Given the description of an element on the screen output the (x, y) to click on. 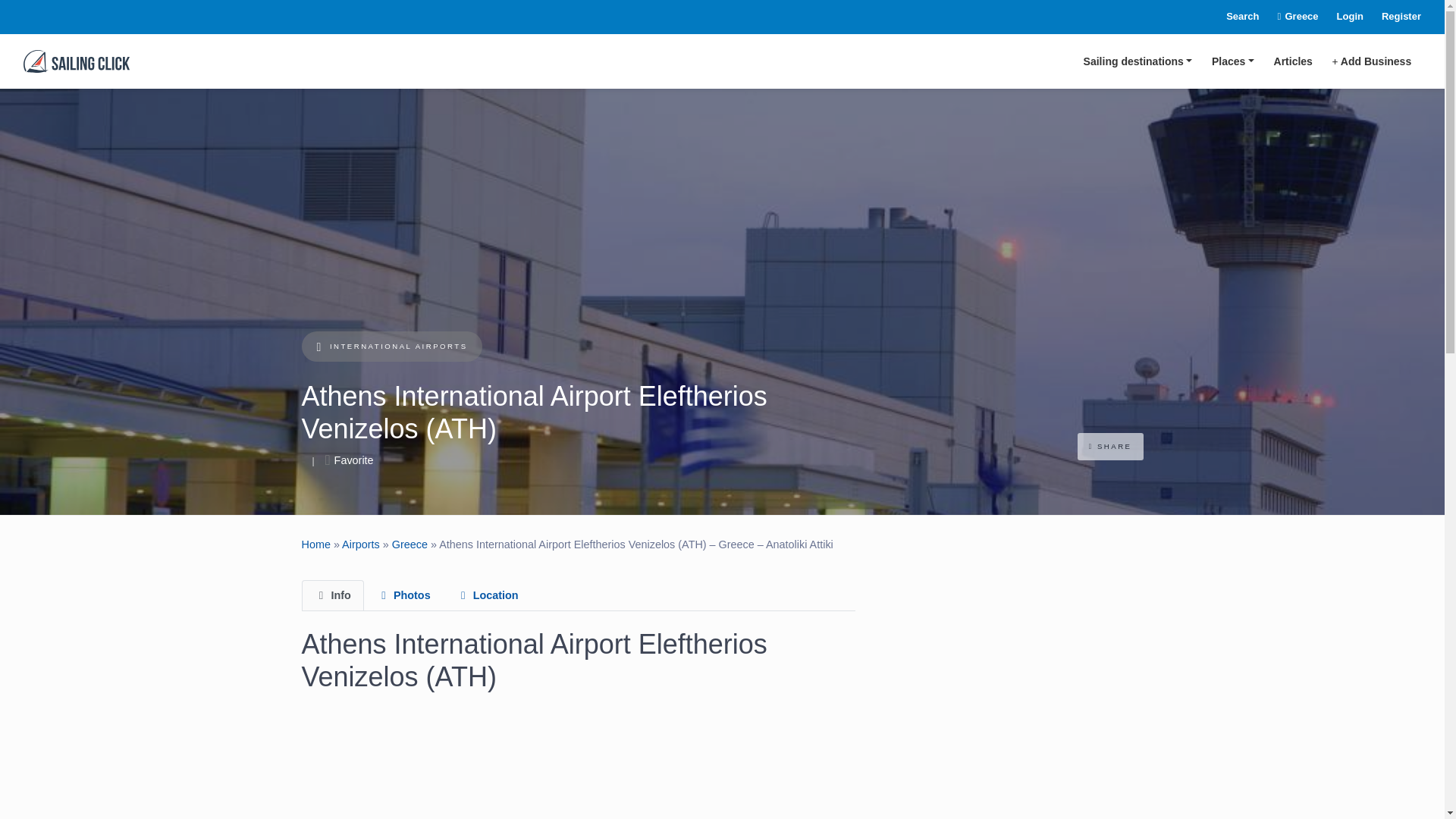
Register (1391, 17)
Search (1233, 17)
Location (487, 594)
Login (1340, 17)
 Greece (1289, 17)
Register (1391, 17)
Photos (404, 594)
Greece (1289, 17)
Search (1233, 17)
Sailing destinations (1138, 61)
Info (332, 594)
Sailing destinations (1138, 61)
Login (1340, 17)
